Given the description of an element on the screen output the (x, y) to click on. 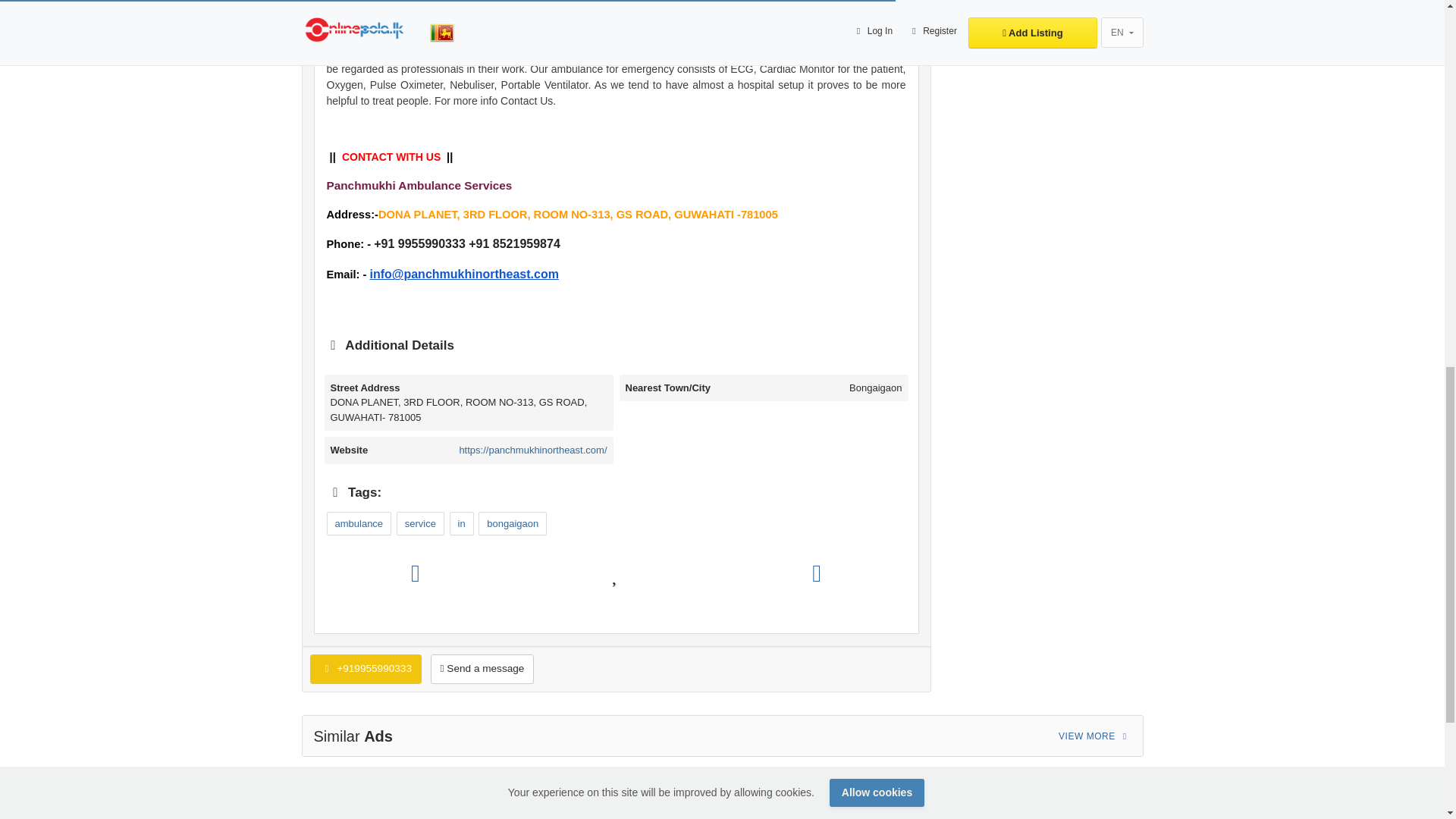
in (461, 523)
service (420, 523)
Ambulance Service in Bongaigaon (525, 37)
ambulance (358, 523)
bongaigaon (513, 523)
